Given the description of an element on the screen output the (x, y) to click on. 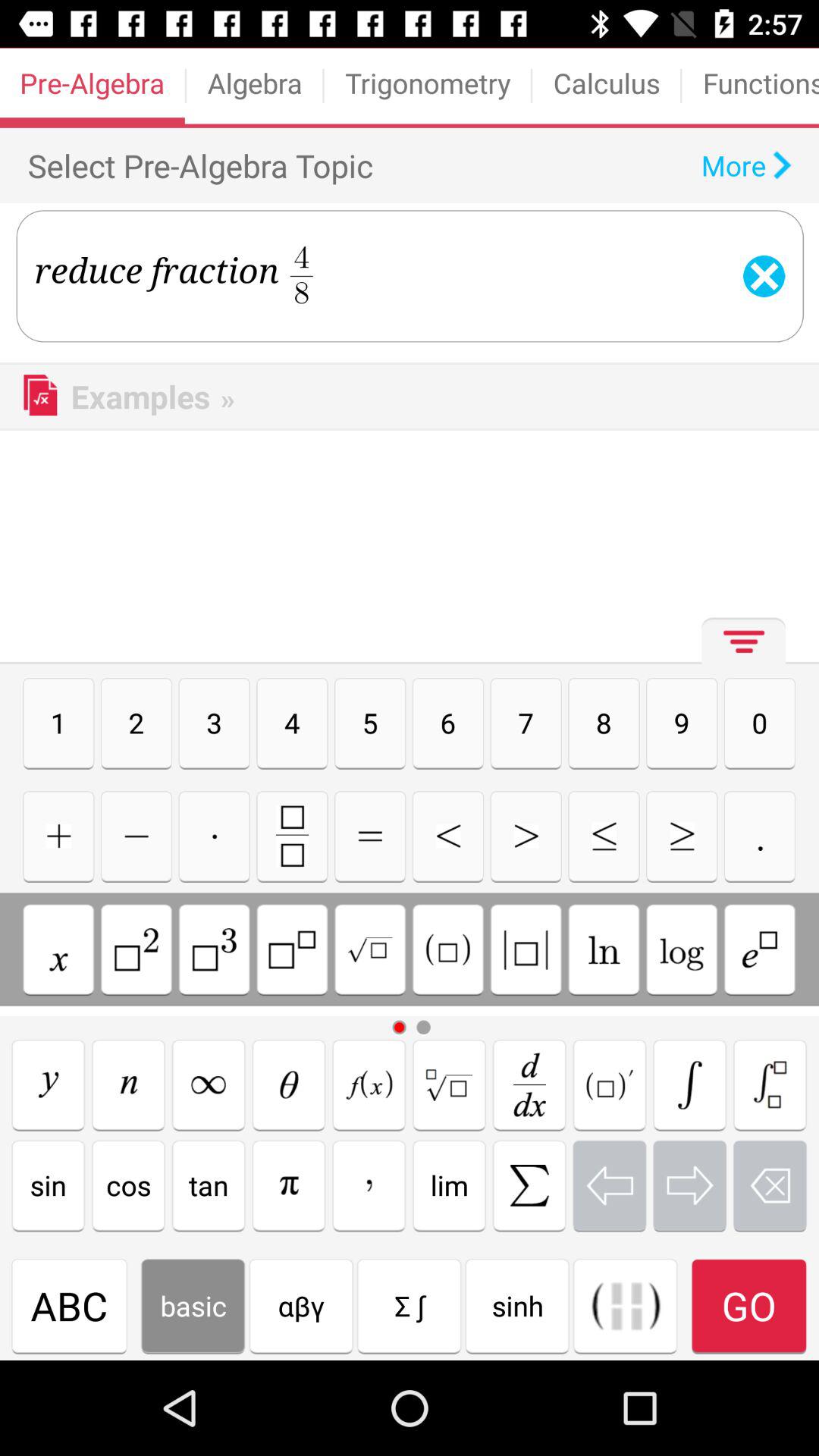
keyword button (529, 1185)
